Given the description of an element on the screen output the (x, y) to click on. 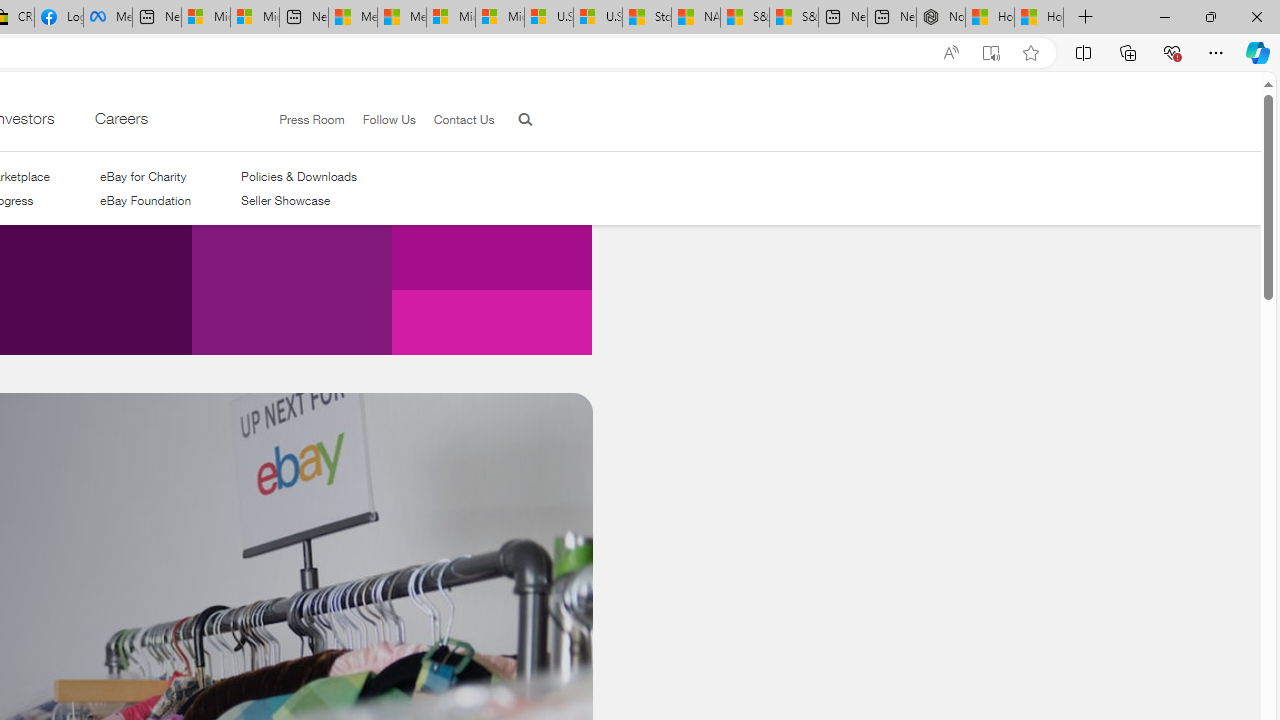
Follow Us (389, 119)
eBay for Charity (145, 176)
Careers (120, 123)
eBay Foundation (145, 200)
Follow Us (380, 120)
Press Room (312, 119)
How to Use a Monitor With Your Closed Laptop (1039, 17)
